Given the description of an element on the screen output the (x, y) to click on. 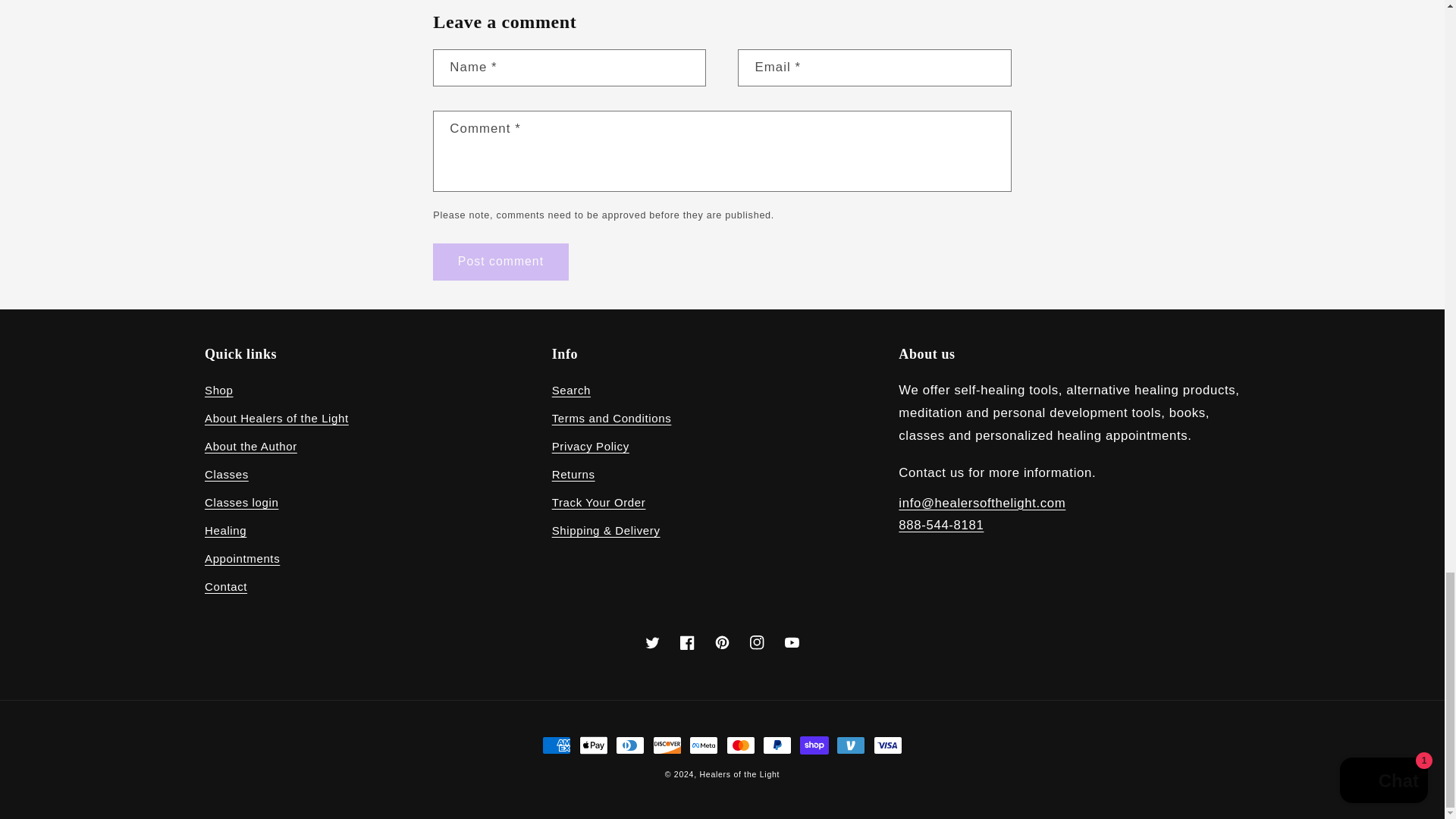
Post comment (499, 261)
